Given the description of an element on the screen output the (x, y) to click on. 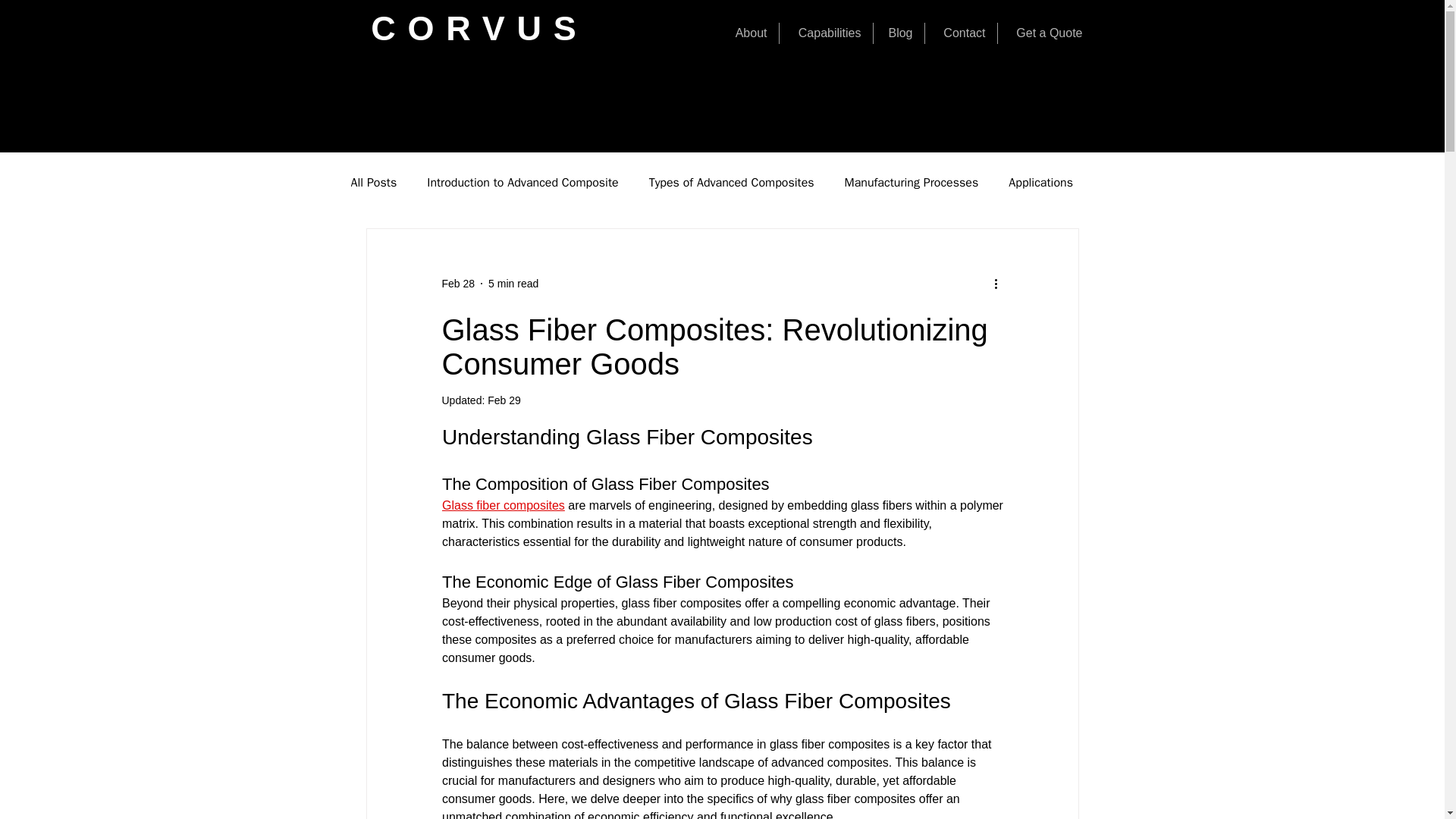
All Posts (373, 182)
Types of Advanced Composites (731, 182)
CORVUS (479, 28)
About (747, 33)
Feb 28 (457, 283)
Applications (1041, 182)
Capabilities (825, 33)
Get a Quote (1045, 33)
Glass fiber composites (502, 504)
5 min read (512, 283)
Feb 29 (504, 399)
Blog (898, 33)
Contact (960, 33)
Introduction to Advanced Composite (521, 182)
Manufacturing Processes (911, 182)
